Given the description of an element on the screen output the (x, y) to click on. 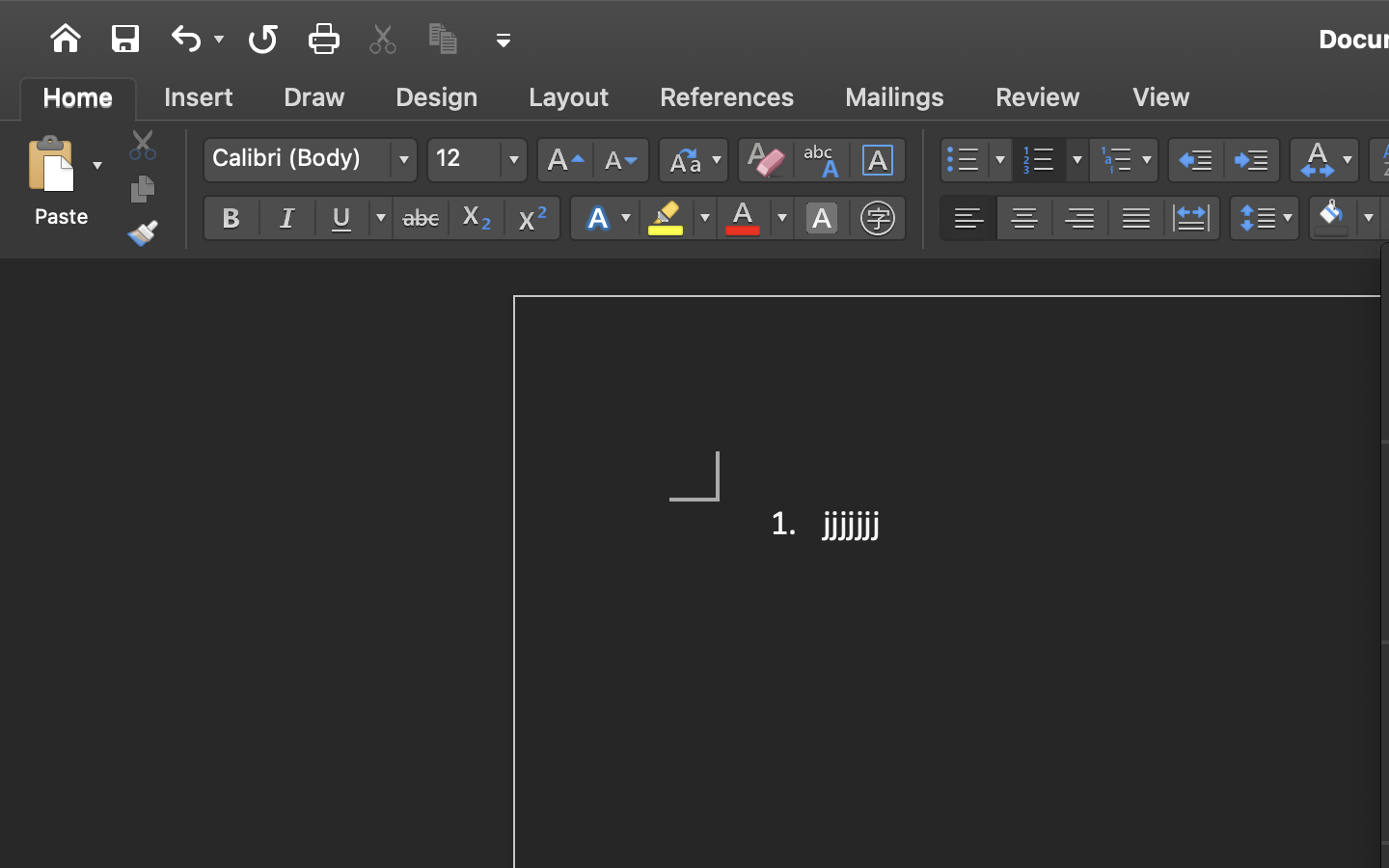
1 Element type: AXRadioButton (77, 97)
0 Element type: AXButton (383, 38)
1 Element type: AXButton (65, 38)
12 Element type: AXComboBox (477, 160)
Calibri (Body) Element type: AXComboBox (310, 160)
